Given the description of an element on the screen output the (x, y) to click on. 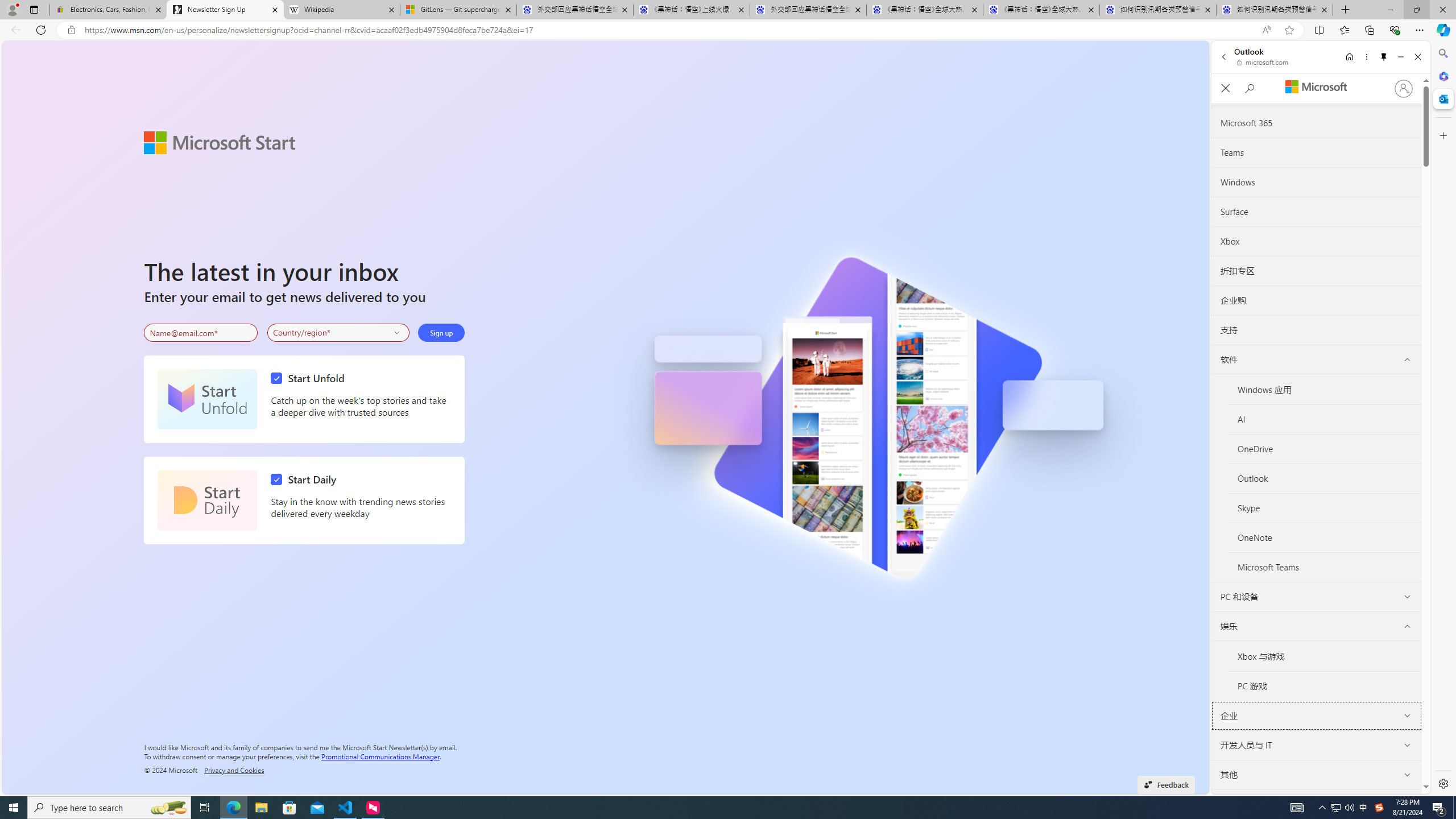
Skype (1325, 508)
Promotional Communications Manager (380, 755)
Start Daily (207, 500)
OneDrive (1325, 449)
microsoft.com (1263, 61)
Surface (1316, 212)
Privacy and Cookies (233, 769)
Skype (1324, 507)
